Given the description of an element on the screen output the (x, y) to click on. 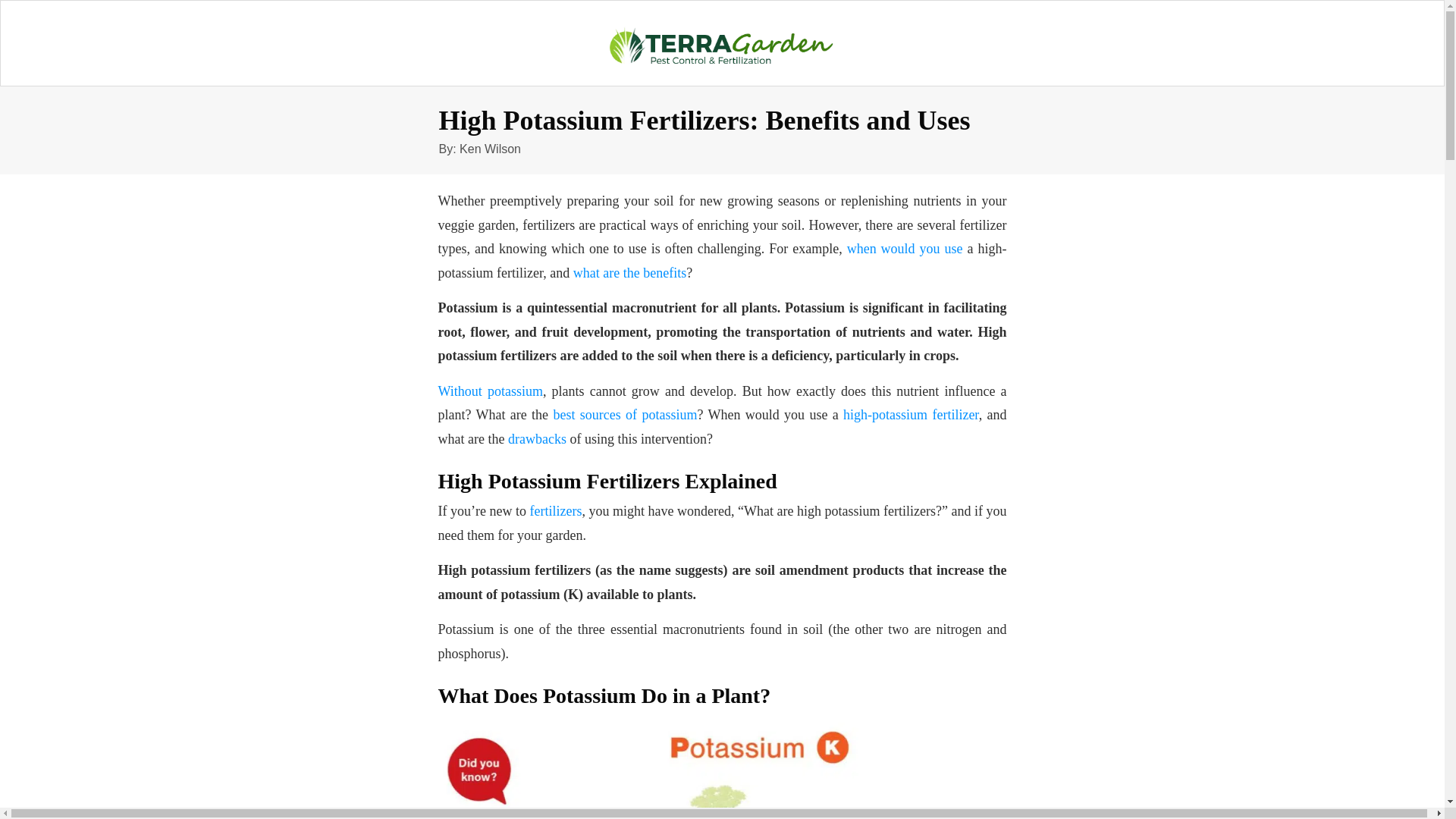
high-potassium fertilizer (910, 414)
when would you use (904, 248)
what are the benefits (629, 272)
best sources of potassium (625, 414)
fertilizers (555, 510)
drawbacks (537, 438)
Without potassium (490, 391)
